Given the description of an element on the screen output the (x, y) to click on. 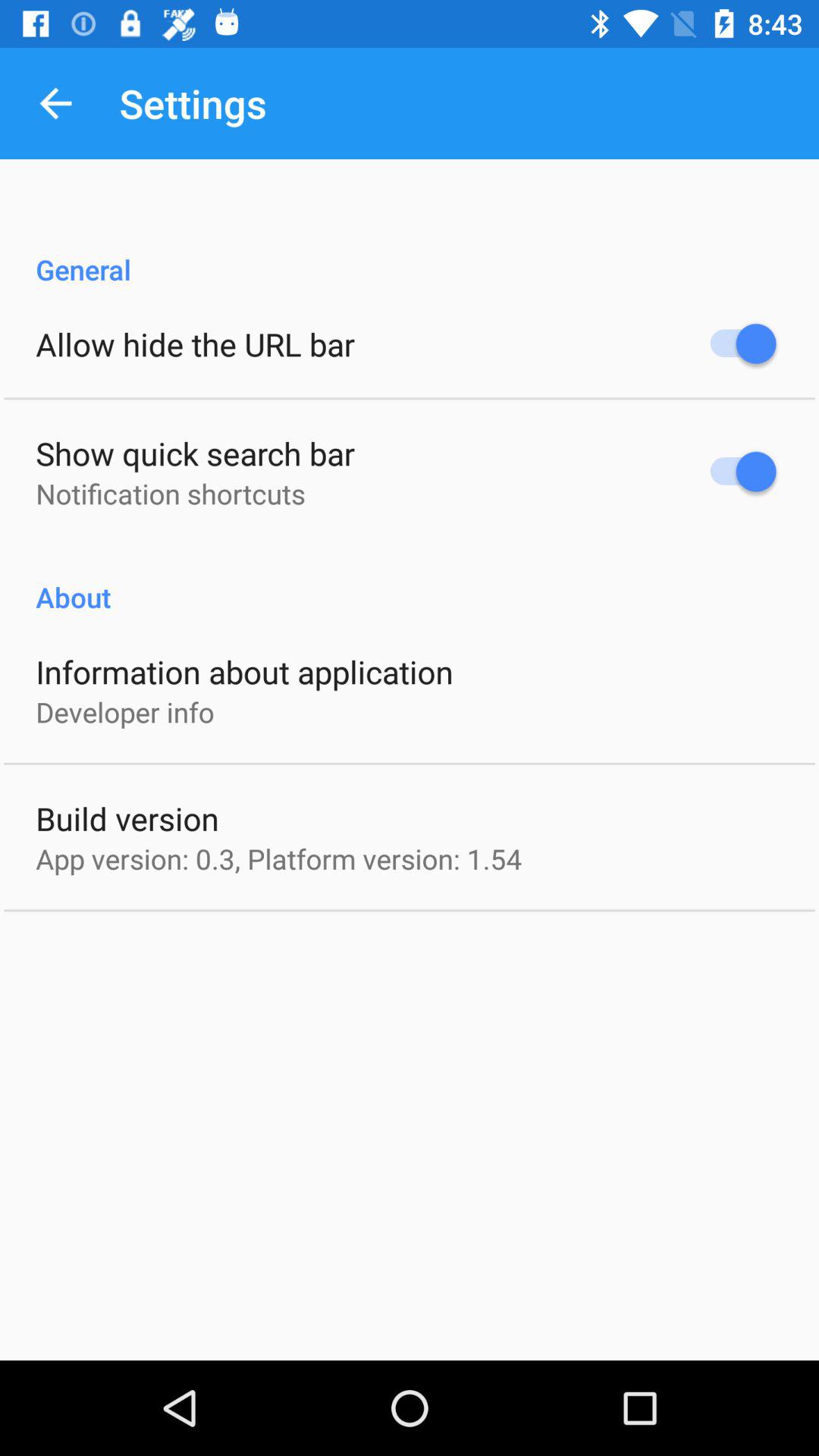
launch the item to the left of the settings (55, 103)
